Given the description of an element on the screen output the (x, y) to click on. 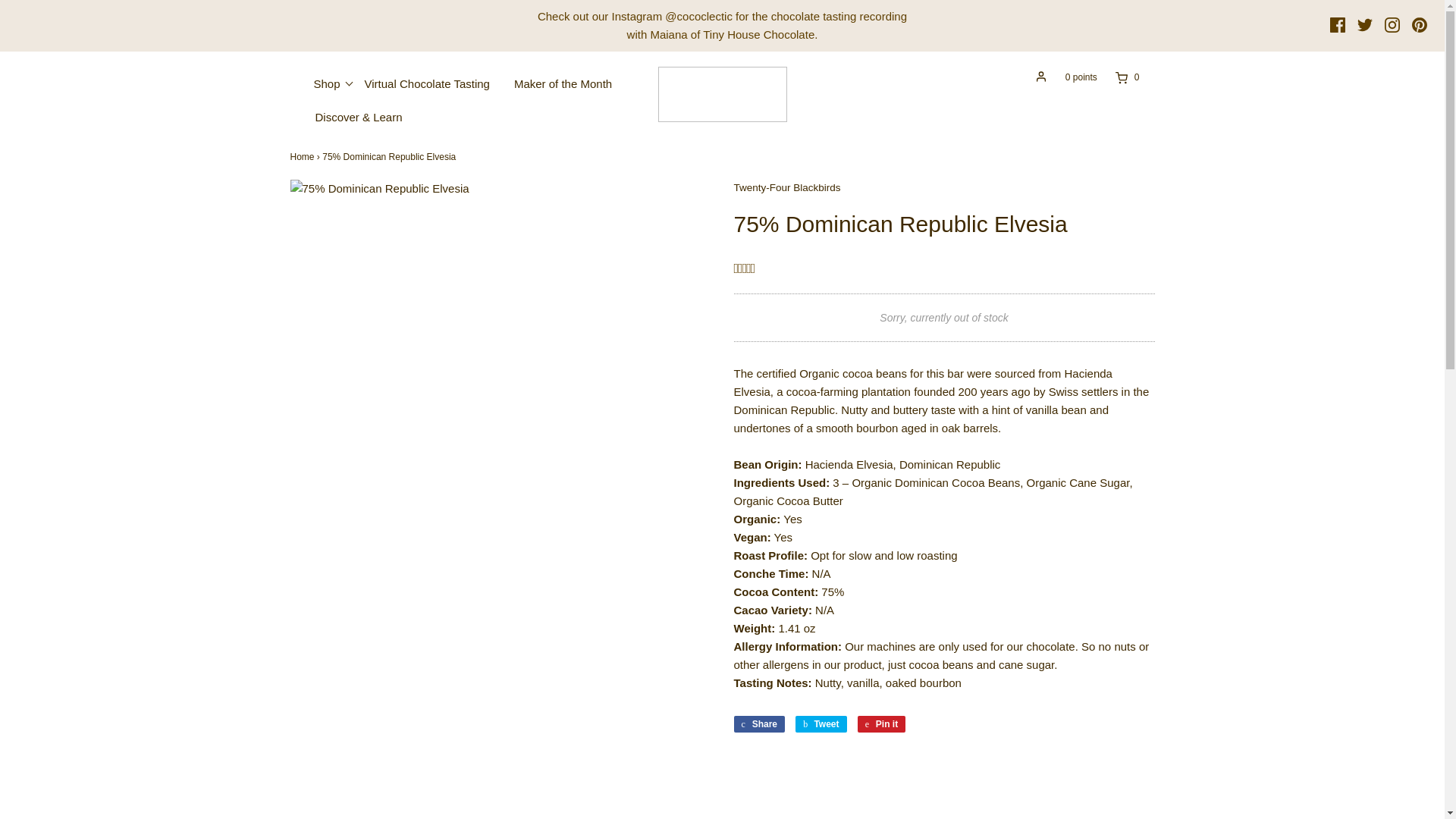
Facebook icon (1337, 24)
Virtual Chocolate Tasting (426, 83)
Back to the frontpage (301, 156)
Shop (325, 83)
Facebook icon (1337, 24)
Share (759, 723)
Tweet (819, 723)
Twitter icon (1364, 24)
0 (1118, 77)
Cart (1118, 77)
Twitter icon (1364, 24)
Pin it (881, 723)
Pinterest icon (1419, 24)
Log in (1040, 76)
Instagram icon (1391, 24)
